Given the description of an element on the screen output the (x, y) to click on. 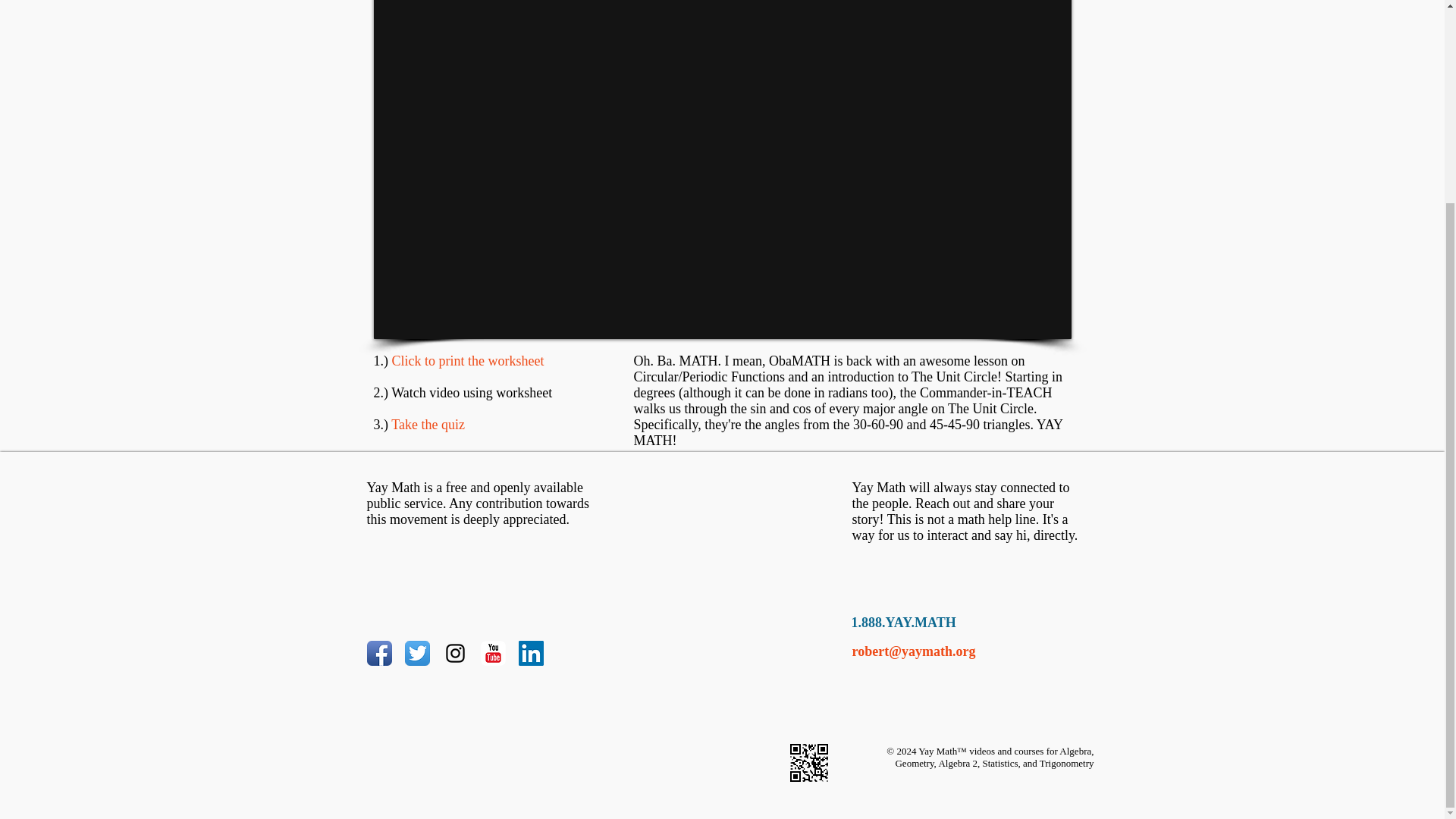
Take the quiz (427, 424)
1.888.YAY.MATH (902, 622)
Sign up using QR code (809, 762)
Click to print the worksheet (467, 360)
